Given the description of an element on the screen output the (x, y) to click on. 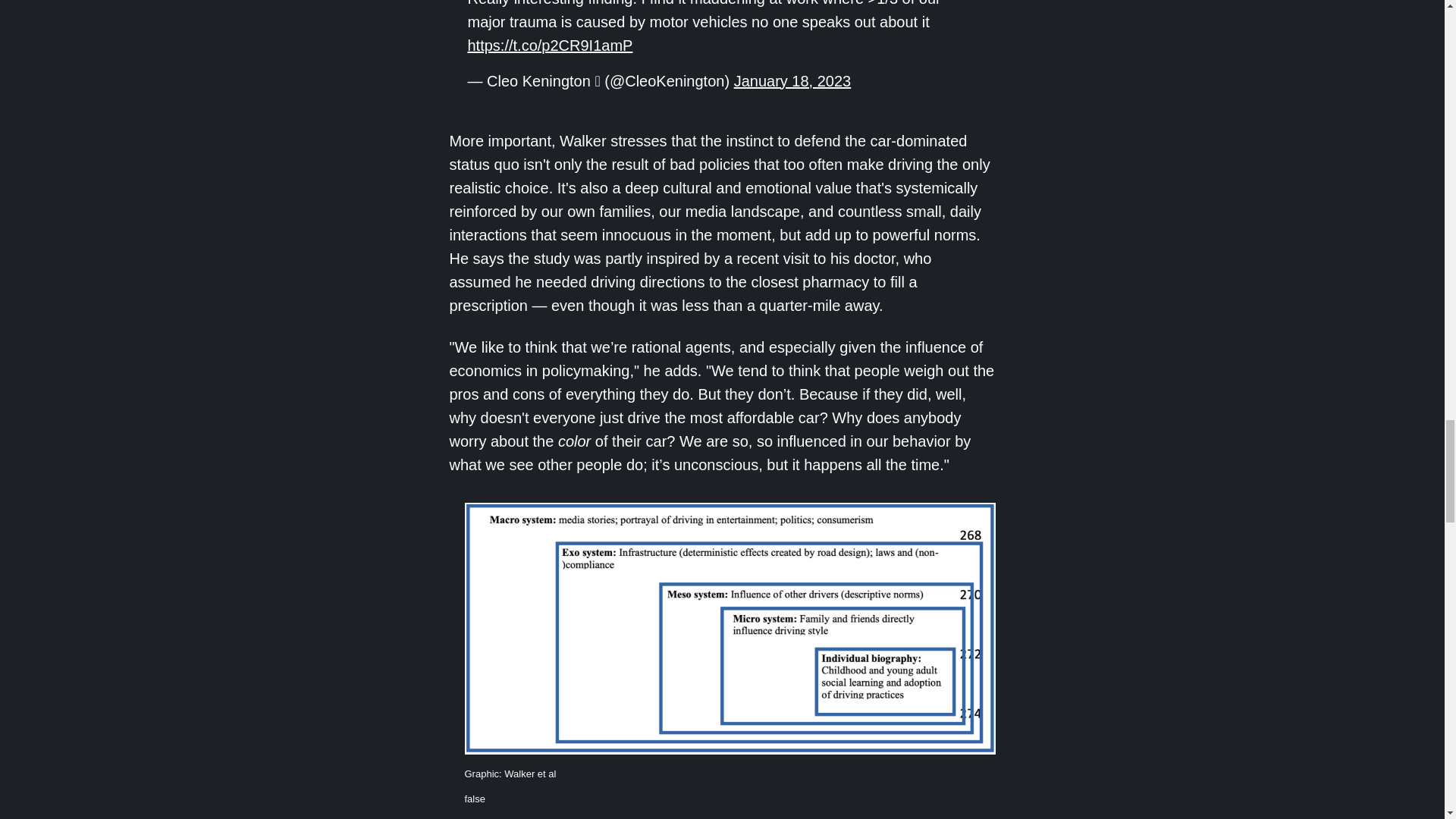
January 18, 2023 (792, 80)
